Given the description of an element on the screen output the (x, y) to click on. 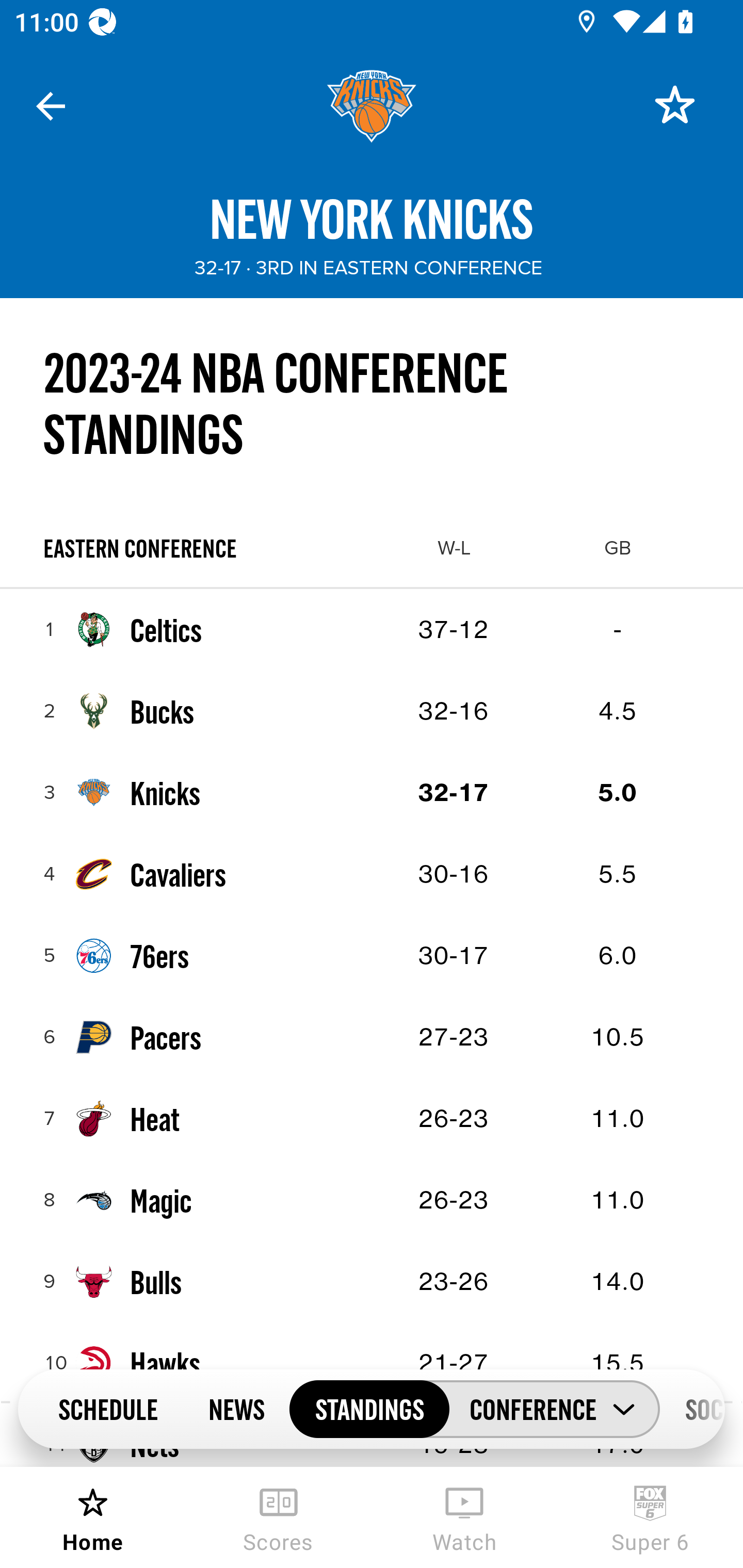
Navigate up (50, 106)
32-17 · 3RD IN EASTERN CONFERENCE (368, 267)
EASTERN CONFERENCE W-L GB (371, 547)
1 Celtics 37-12 - (371, 629)
2 Bucks 32-16 4.5 (371, 711)
4 Cavaliers 30-16 5.5 (371, 874)
5 76ers 30-17 6.0 (371, 955)
6 Pacers 27-23 10.5 (371, 1037)
7 Heat 26-23 11.0 (371, 1118)
8 Magic 26-23 11.0 (371, 1200)
9 Bulls 23-26 14.0 (371, 1281)
10 Hawks 21-27 15.5 (371, 1363)
SCHEDULE (107, 1408)
NEWS (235, 1408)
CONFERENCE (554, 1408)
Scores (278, 1517)
Watch (464, 1517)
Super 6 (650, 1517)
